Given the description of an element on the screen output the (x, y) to click on. 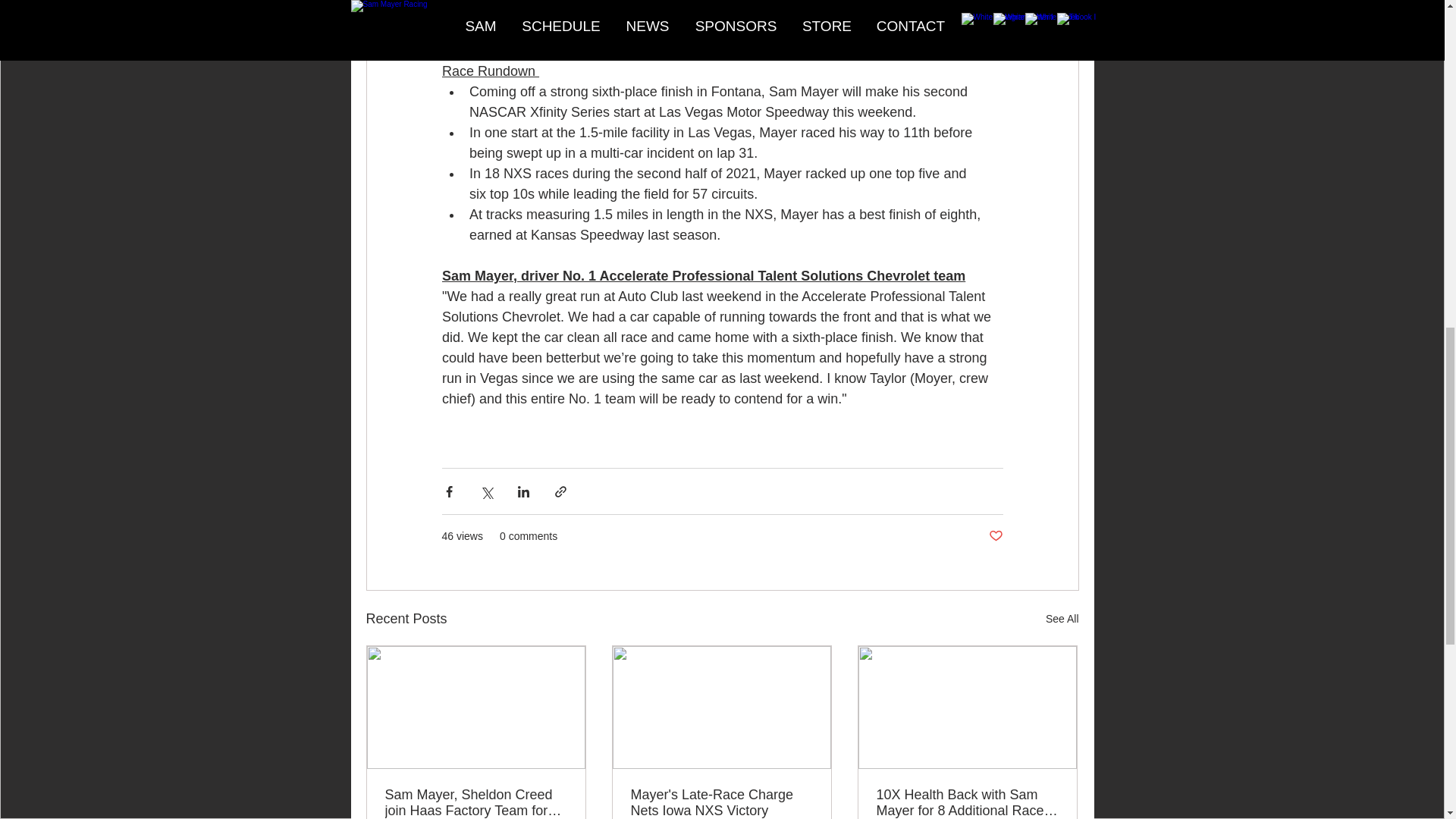
Post not marked as liked (995, 536)
Mayer's Late-Race Charge Nets Iowa NXS Victory (721, 803)
See All (1061, 618)
